Given the description of an element on the screen output the (x, y) to click on. 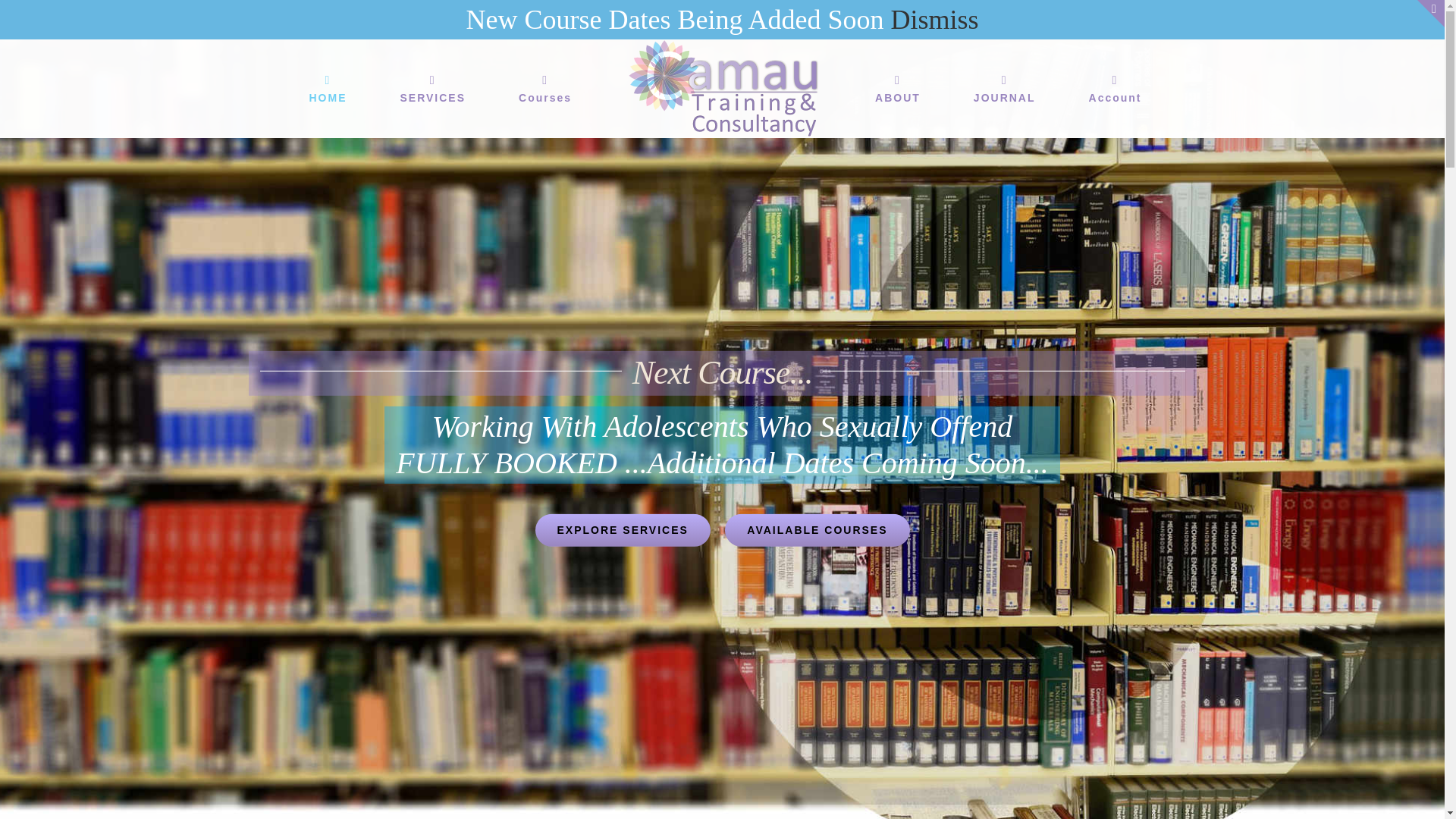
SERVICES (431, 88)
JOURNAL (1004, 88)
